Given the description of an element on the screen output the (x, y) to click on. 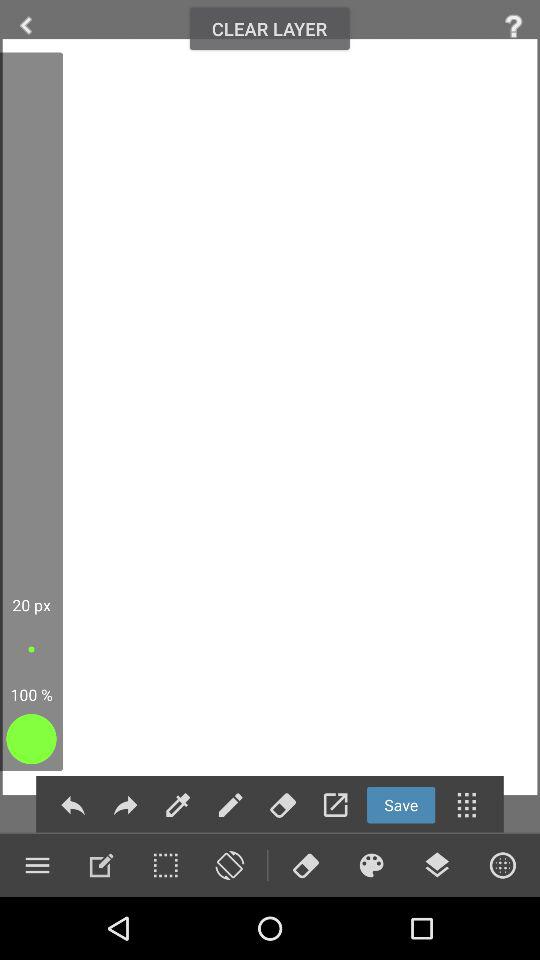
more information (513, 26)
